Given the description of an element on the screen output the (x, y) to click on. 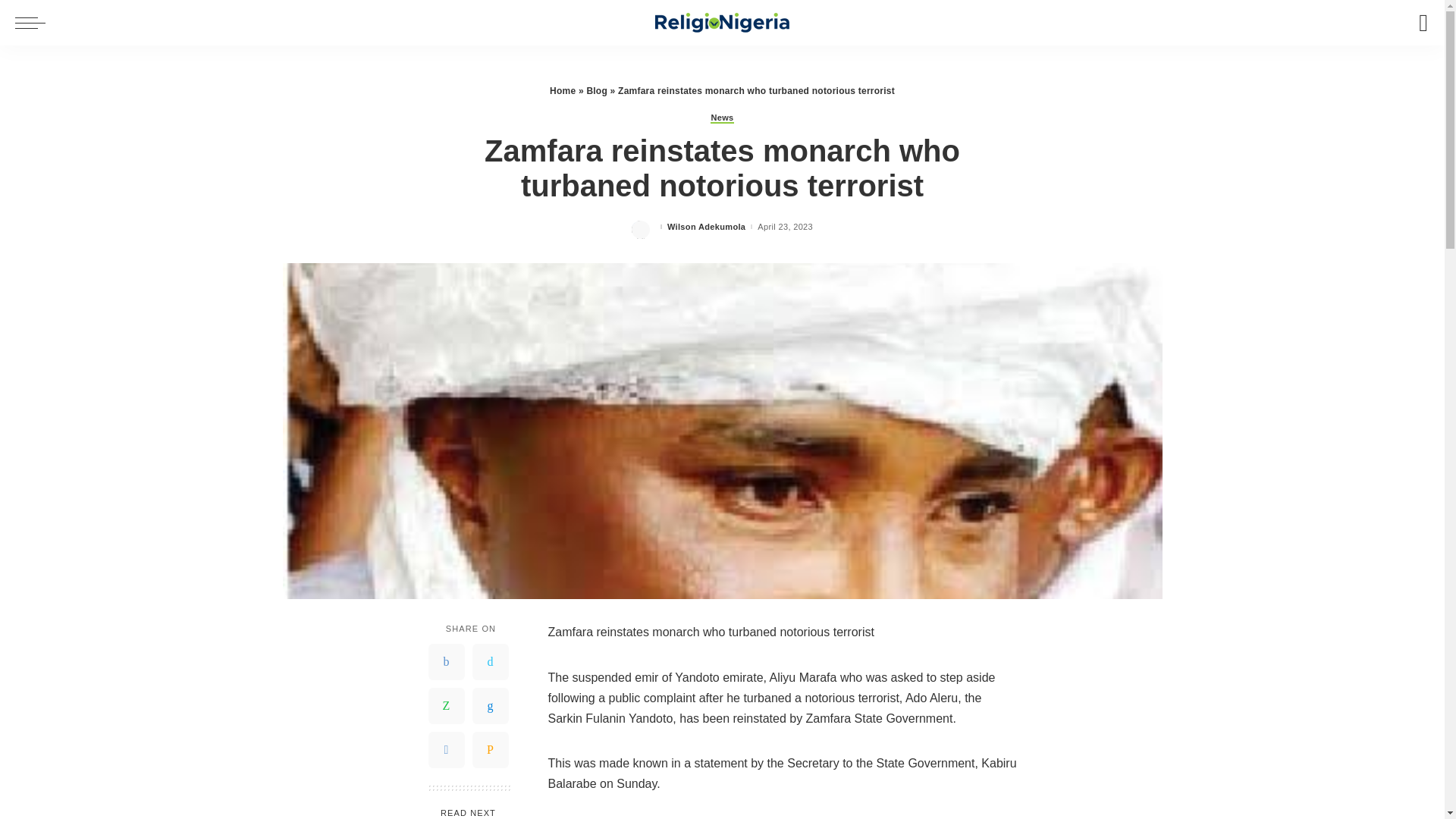
Email (489, 750)
Home (562, 90)
Twitter (489, 661)
Blog (596, 90)
linkedIn (489, 705)
News (721, 118)
Facebook (446, 661)
Wilson Adekumola (705, 226)
Telegram (446, 750)
WhatsApp (446, 705)
